Given the description of an element on the screen output the (x, y) to click on. 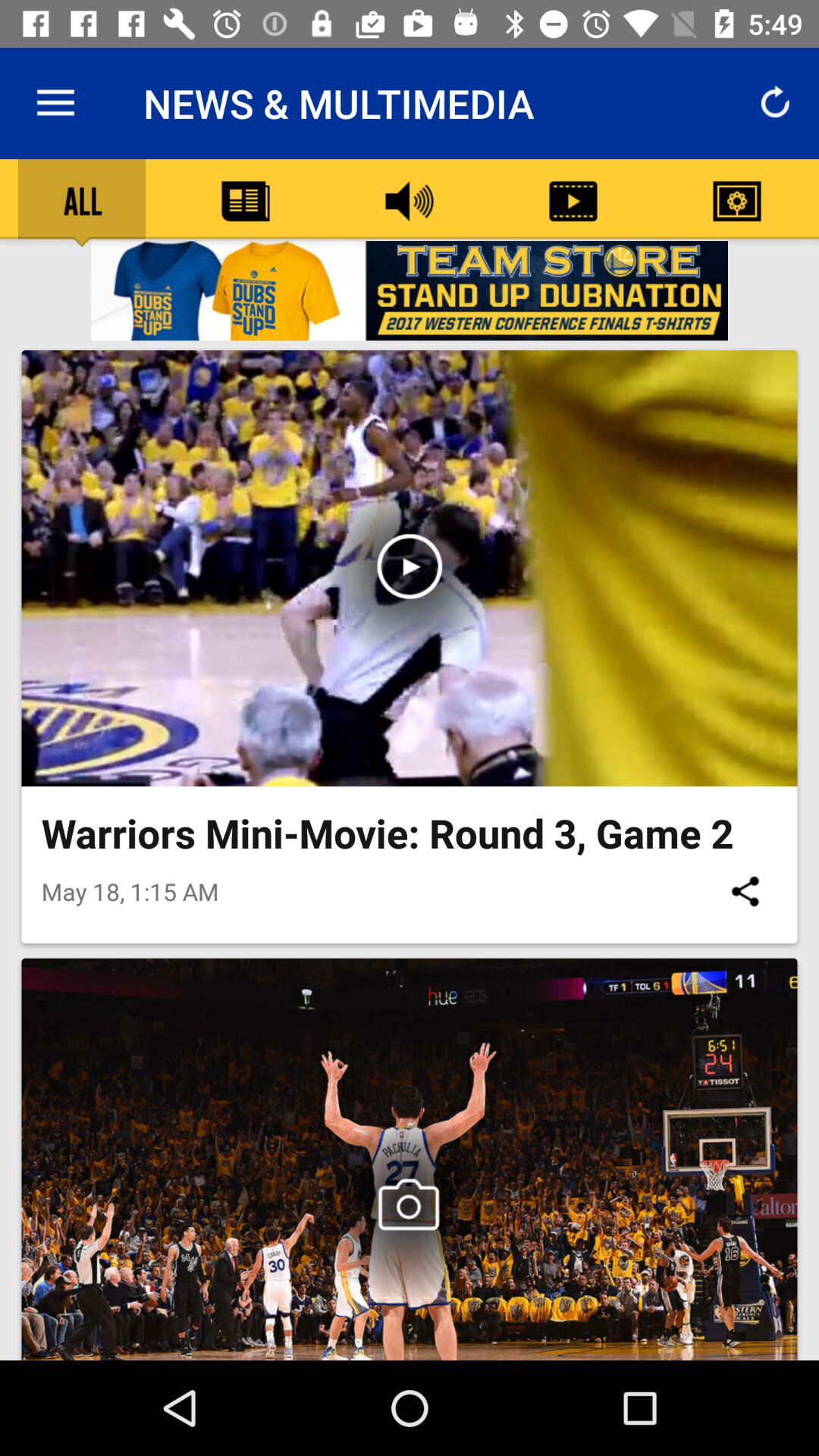
turn off item next to may 18 1 item (745, 891)
